Given the description of an element on the screen output the (x, y) to click on. 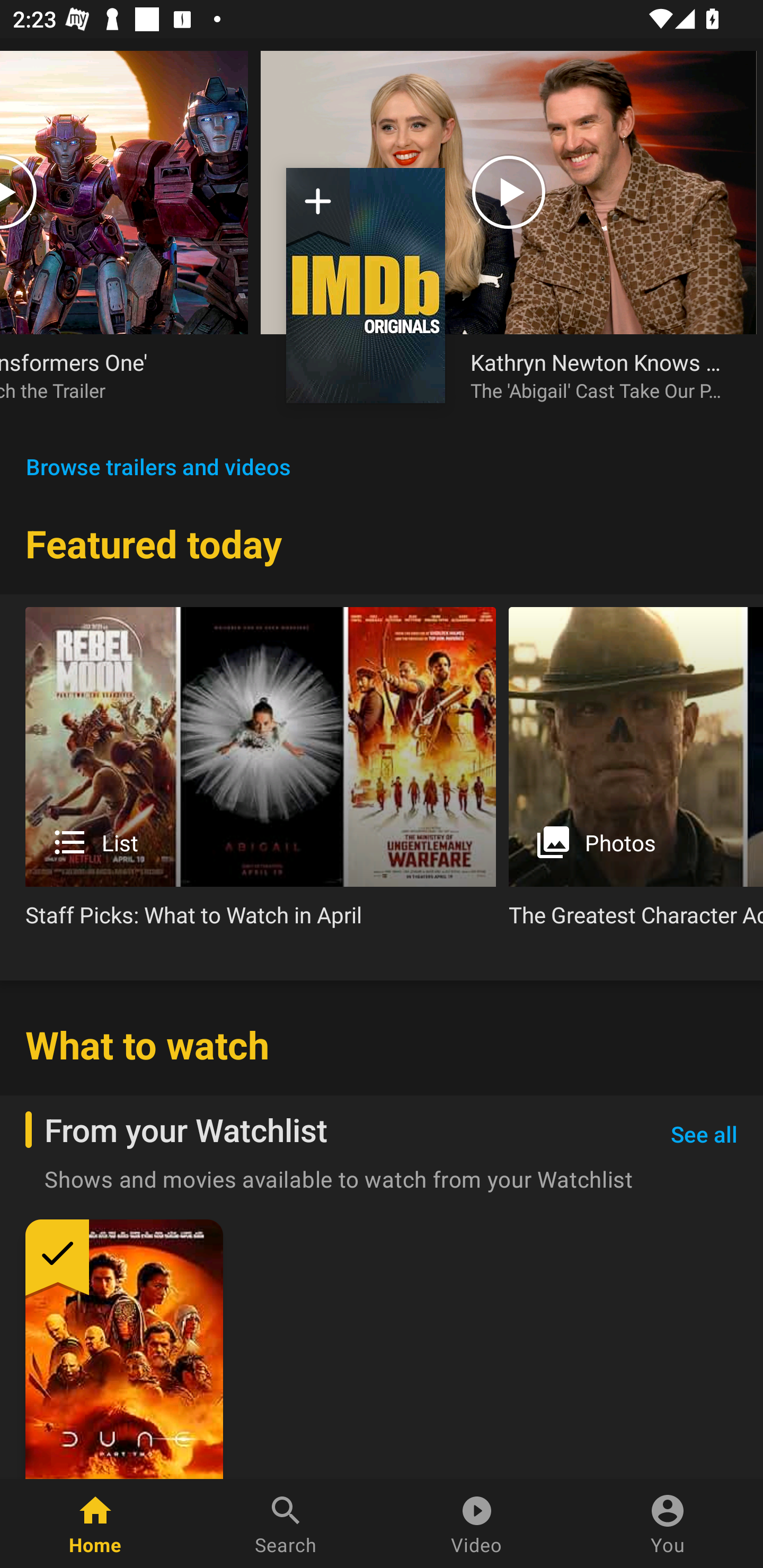
'Transformers One' Watch the Trailer (123, 239)
Not in watchlist (365, 284)
Not in watchlist (317, 207)
'Transformers One' Watch the Trailer (111, 374)
List Staff Picks: What to Watch in April (260, 774)
Photos The Greatest Character Actors of All Time (635, 774)
See all See all From your Watchlist (703, 1134)
Search (285, 1523)
Video (476, 1523)
You (667, 1523)
